Given the description of an element on the screen output the (x, y) to click on. 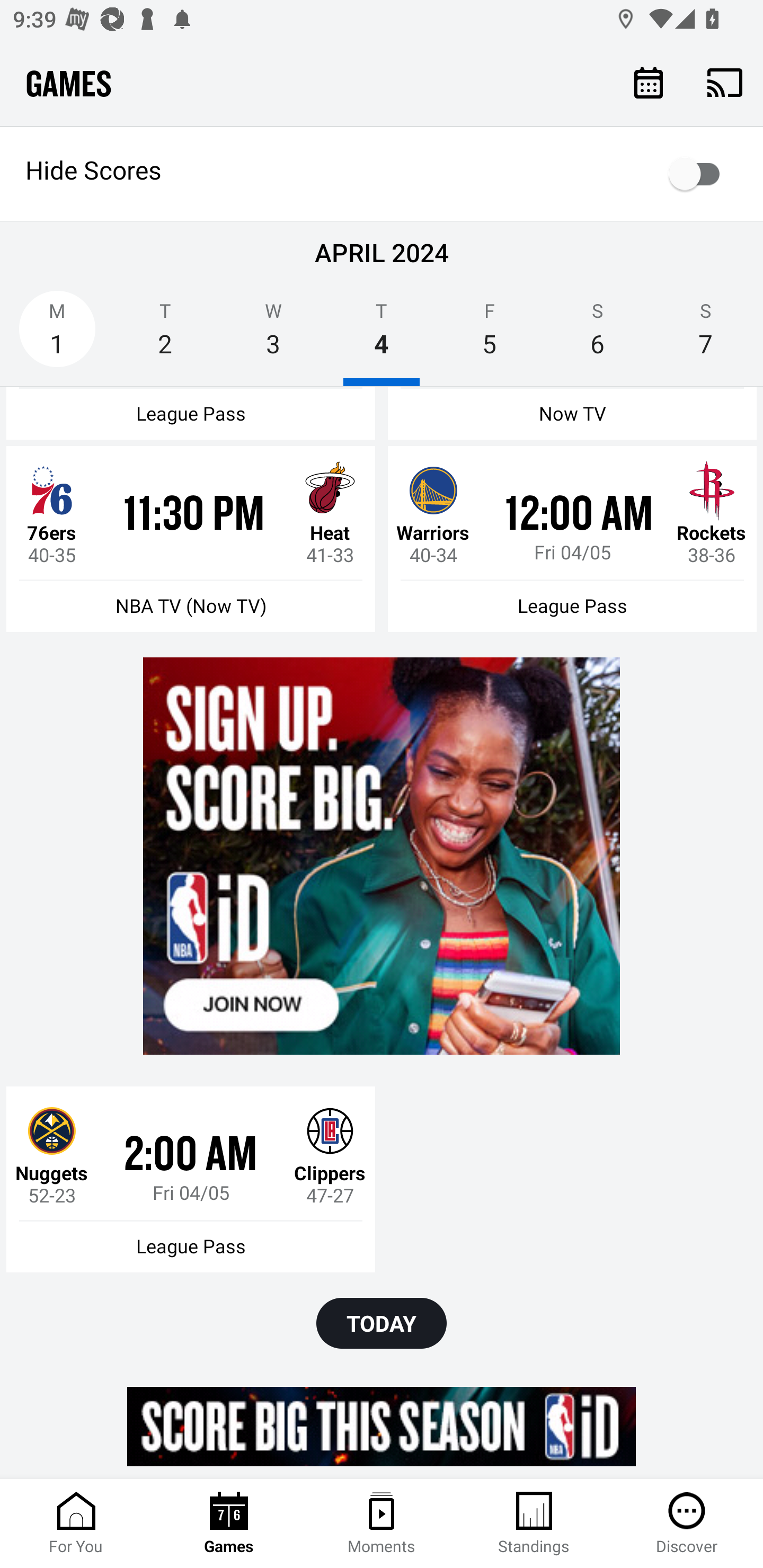
Cast. Disconnected (724, 82)
Calendar (648, 81)
Hide Scores (381, 174)
M 1 (57, 334)
T 2 (165, 334)
W 3 (273, 334)
T 4 (381, 334)
F 5 (489, 334)
S 6 (597, 334)
S 7 (705, 334)
Hawks 34-40 11:30 PM Mavericks 45-29 League Pass (190, 413)
Kings 43-31 11:30 PM Knicks 44-30 Now TV (571, 413)
76ers 40-35 11:30 PM Heat 41-33 NBA TV (Now TV) (190, 538)
g5nqqygr7owph (381, 855)
g5nqqygr7owph (381, 855)
TODAY (381, 1323)
g5nqqygr7owph (381, 1426)
For You (76, 1523)
Moments (381, 1523)
Standings (533, 1523)
Discover (686, 1523)
